Given the description of an element on the screen output the (x, y) to click on. 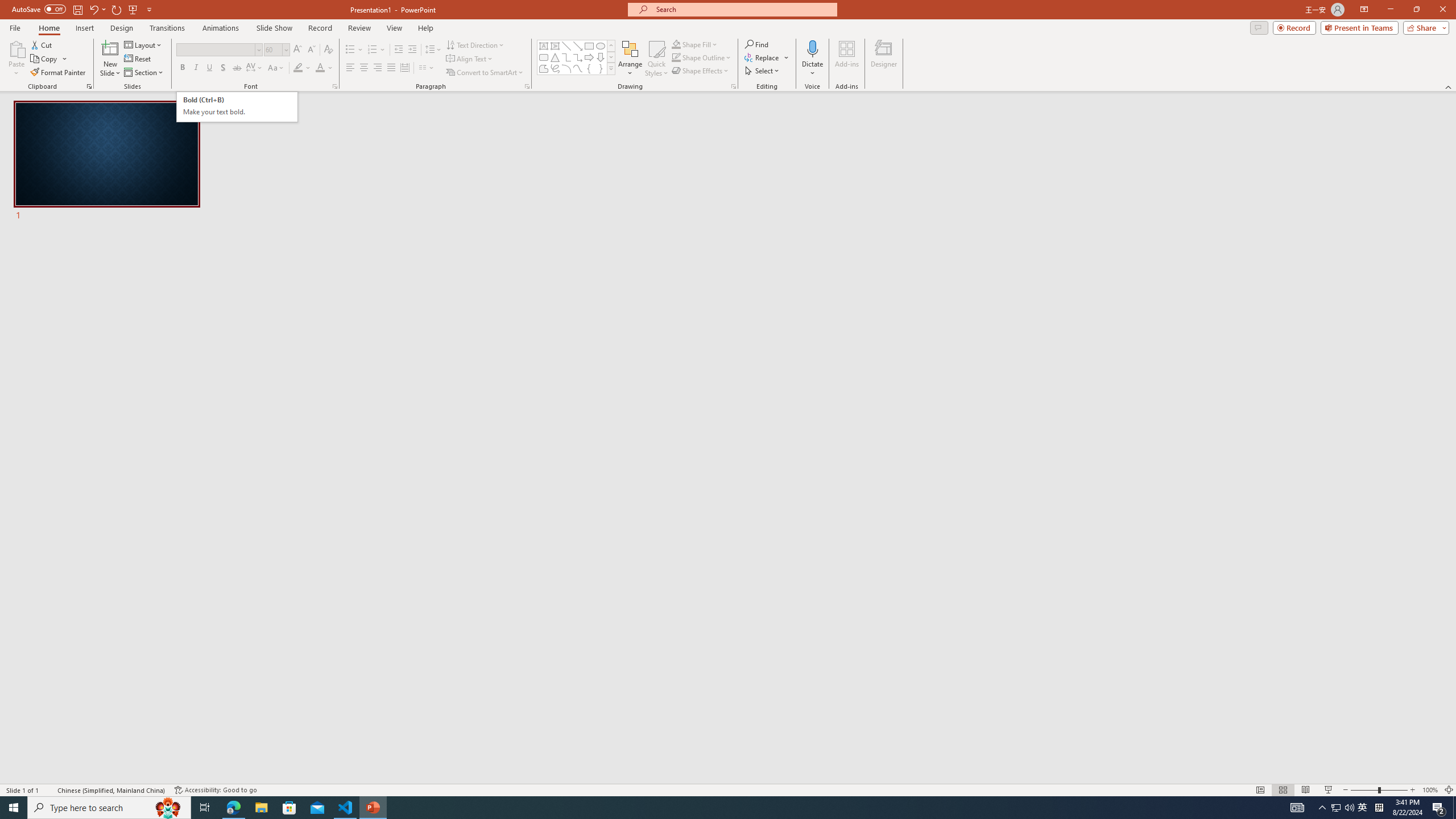
Shape Outline Blue, Accent 1 (675, 56)
